Given the description of an element on the screen output the (x, y) to click on. 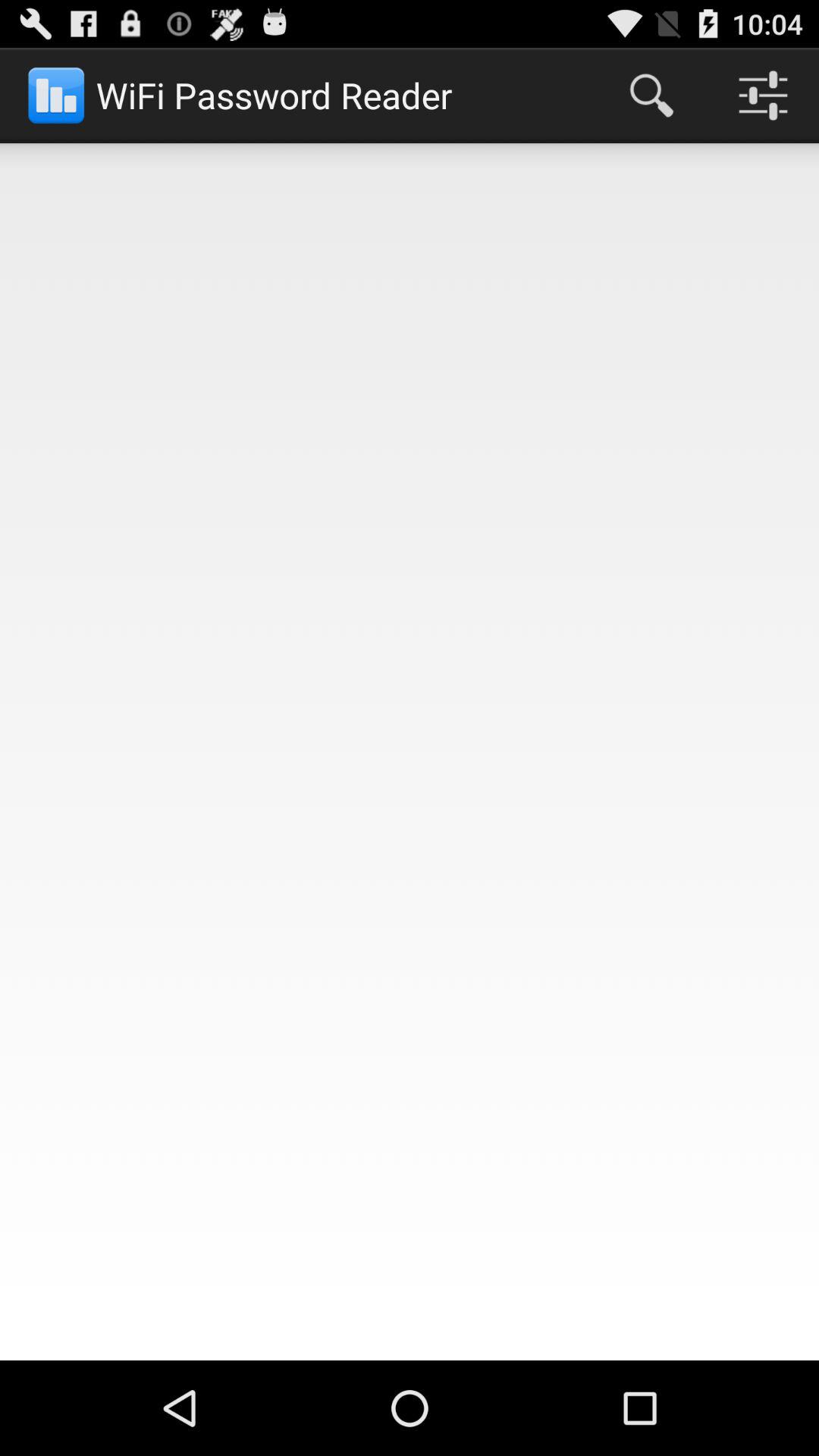
launch app to the right of the wifi password reader icon (651, 95)
